Given the description of an element on the screen output the (x, y) to click on. 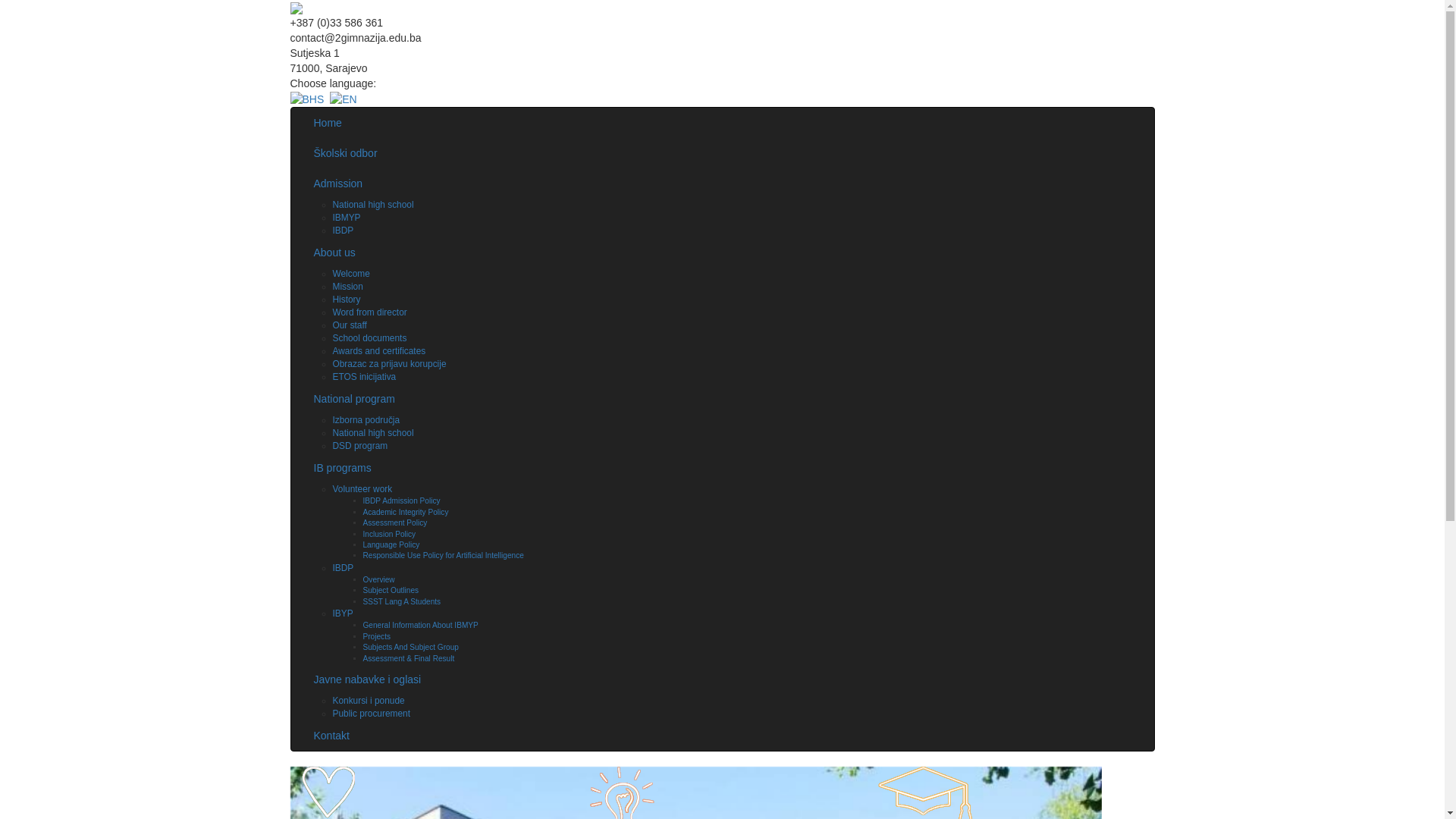
Konkursi i ponude Element type: text (368, 700)
Admission Element type: text (721, 183)
IBDP Admission Policy Element type: text (400, 500)
National high school Element type: text (372, 204)
Word from director Element type: text (369, 312)
IBYP Element type: text (342, 613)
DSD program Element type: text (359, 445)
Assessment Policy Element type: text (394, 522)
Mission Element type: text (347, 286)
National high school Element type: text (372, 432)
History Element type: text (346, 299)
About us Element type: text (721, 252)
Projects Element type: text (376, 636)
IBDP Element type: text (342, 230)
Obrazac za prijavu korupcije Element type: text (388, 363)
Welcome Element type: text (350, 273)
IBMYP Element type: text (346, 217)
Public procurement Element type: text (370, 713)
Inclusion Policy Element type: text (388, 534)
Home Element type: text (721, 122)
Academic Integrity Policy Element type: text (405, 512)
IB programs Element type: text (721, 467)
Assessment & Final Result Element type: text (408, 658)
Subjects And Subject Group Element type: text (410, 647)
National program Element type: text (721, 398)
Subject Outlines Element type: text (390, 590)
IBDP Element type: text (342, 567)
Volunteer work Element type: text (362, 488)
SSST Lang A Students Element type: text (401, 601)
Awards and certificates Element type: text (378, 350)
Our staff Element type: text (349, 325)
Javne nabavke i oglasi Element type: text (721, 679)
General Information About IBMYP Element type: text (419, 625)
Kontakt Element type: text (721, 735)
Responsible Use Policy for Artificial Intelligence Element type: text (442, 555)
Overview Element type: text (378, 579)
ETOS inicijativa Element type: text (363, 376)
Language Policy Element type: text (390, 544)
School documents Element type: text (369, 337)
